Given the description of an element on the screen output the (x, y) to click on. 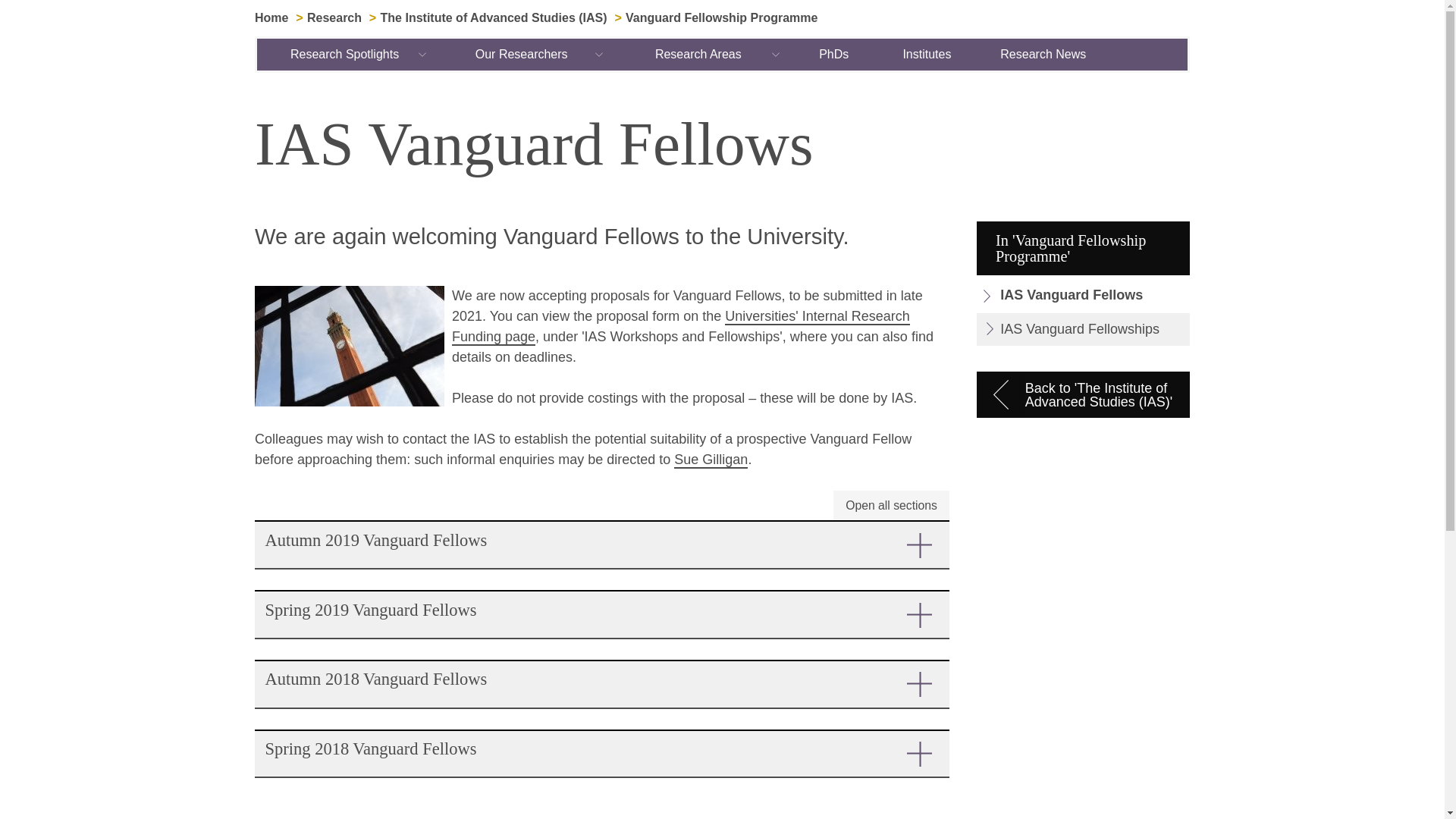
Research Areas (698, 54)
Research Spotlights (345, 54)
Home (271, 18)
Vanguard Fellowship Programme (721, 18)
Research (334, 18)
Our Researchers (521, 54)
